Given the description of an element on the screen output the (x, y) to click on. 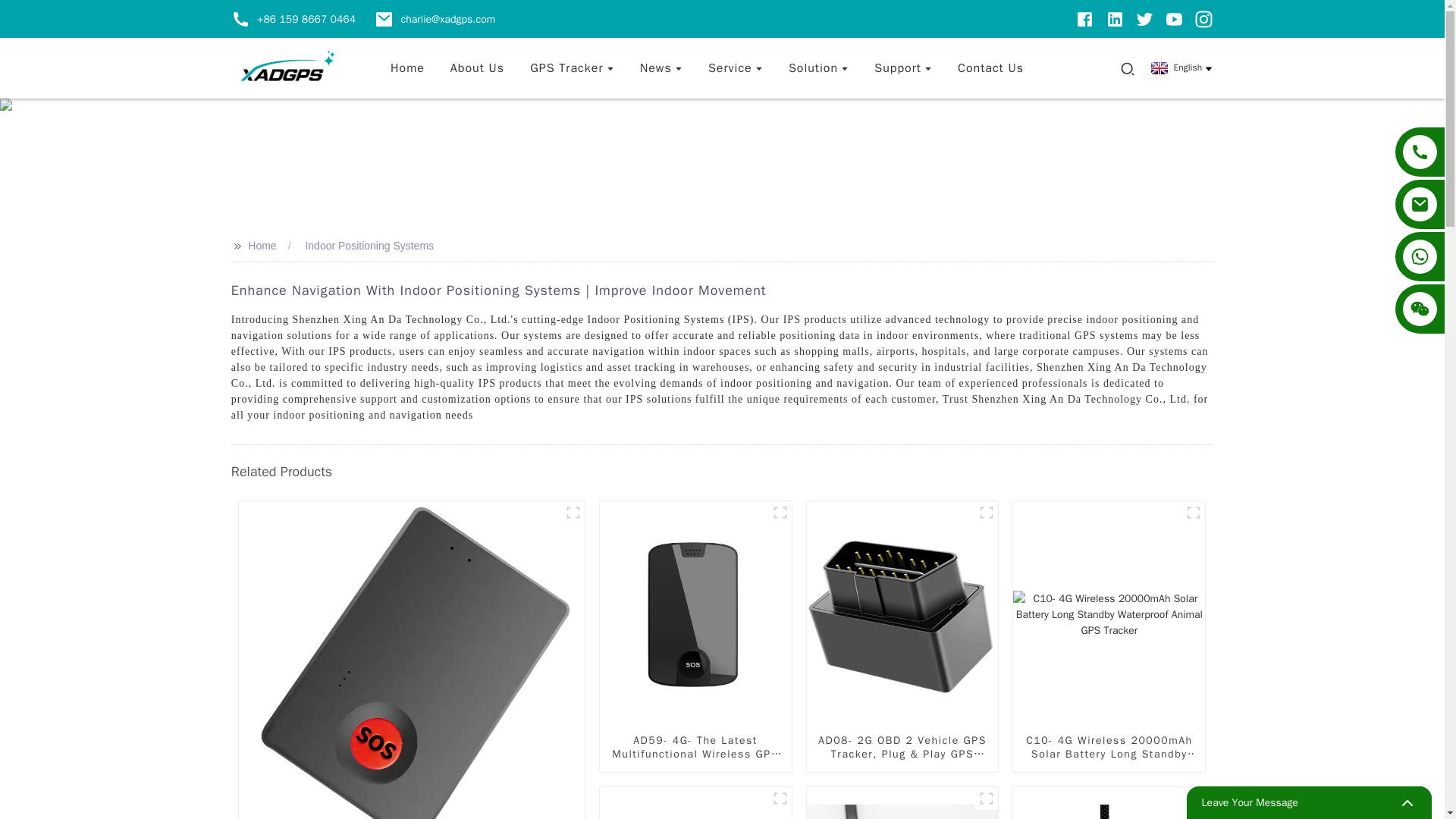
news (660, 67)
Solution (817, 67)
GPS Tracker (572, 67)
About Us (477, 67)
Support (902, 67)
News (660, 67)
products (572, 67)
Service (734, 67)
About Us (477, 67)
Contact Us (990, 67)
